Given the description of an element on the screen output the (x, y) to click on. 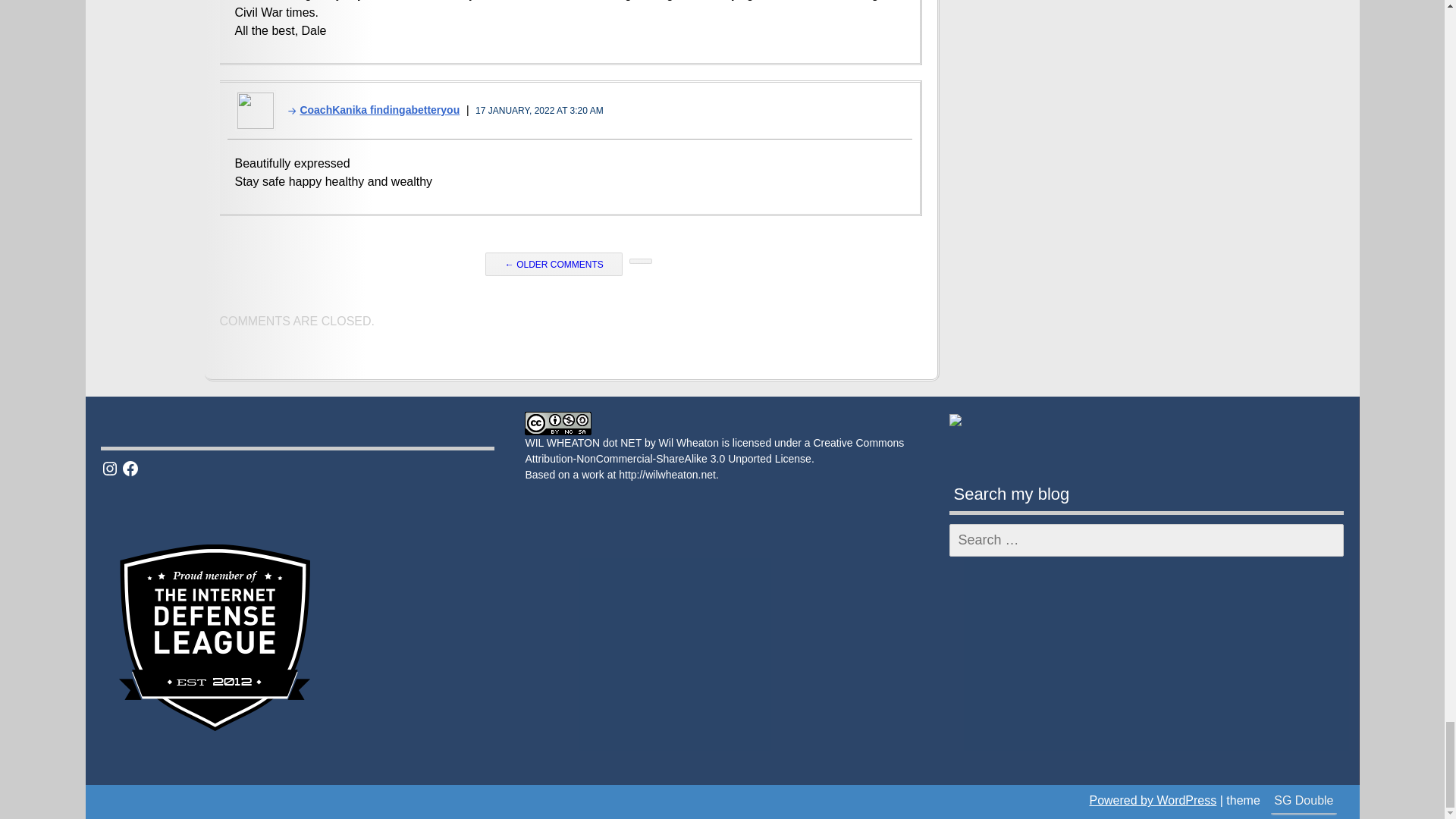
Wil Wheaton (689, 442)
17 JANUARY, 2022 AT 3:20 AM (540, 110)
Facebook (129, 468)
CoachKanika findingabetteryou (369, 110)
Instagram (108, 468)
